Given the description of an element on the screen output the (x, y) to click on. 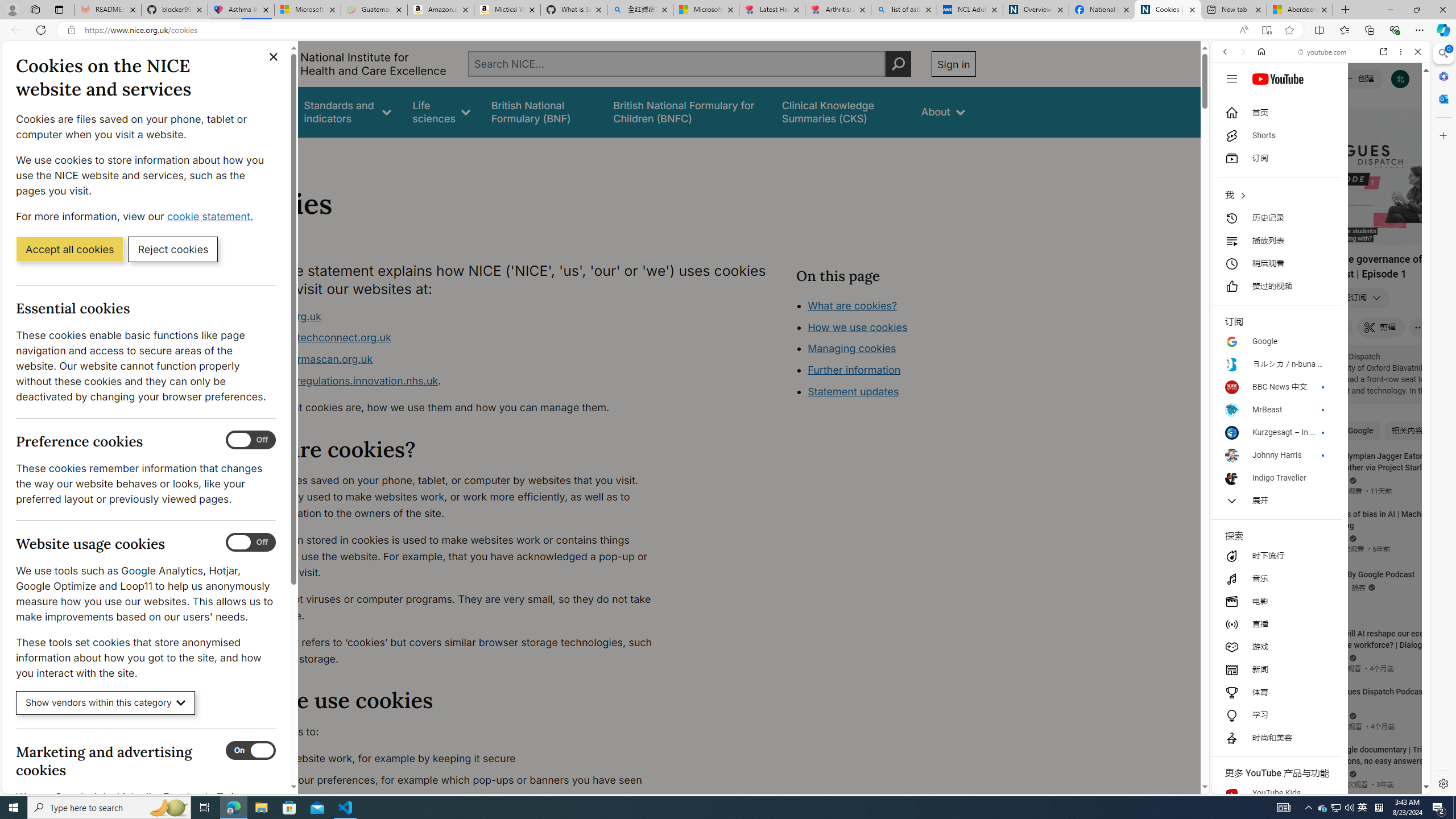
www.healthtechconnect.org.uk (314, 337)
IMAGES (1262, 130)
This site scope (1259, 102)
Dialogues Dispatch (1345, 356)
Accept all cookies (69, 248)
Search Filter, IMAGES (1262, 129)
How we use cookies (896, 389)
Class: dict_pnIcon rms_img (1312, 784)
